Given the description of an element on the screen output the (x, y) to click on. 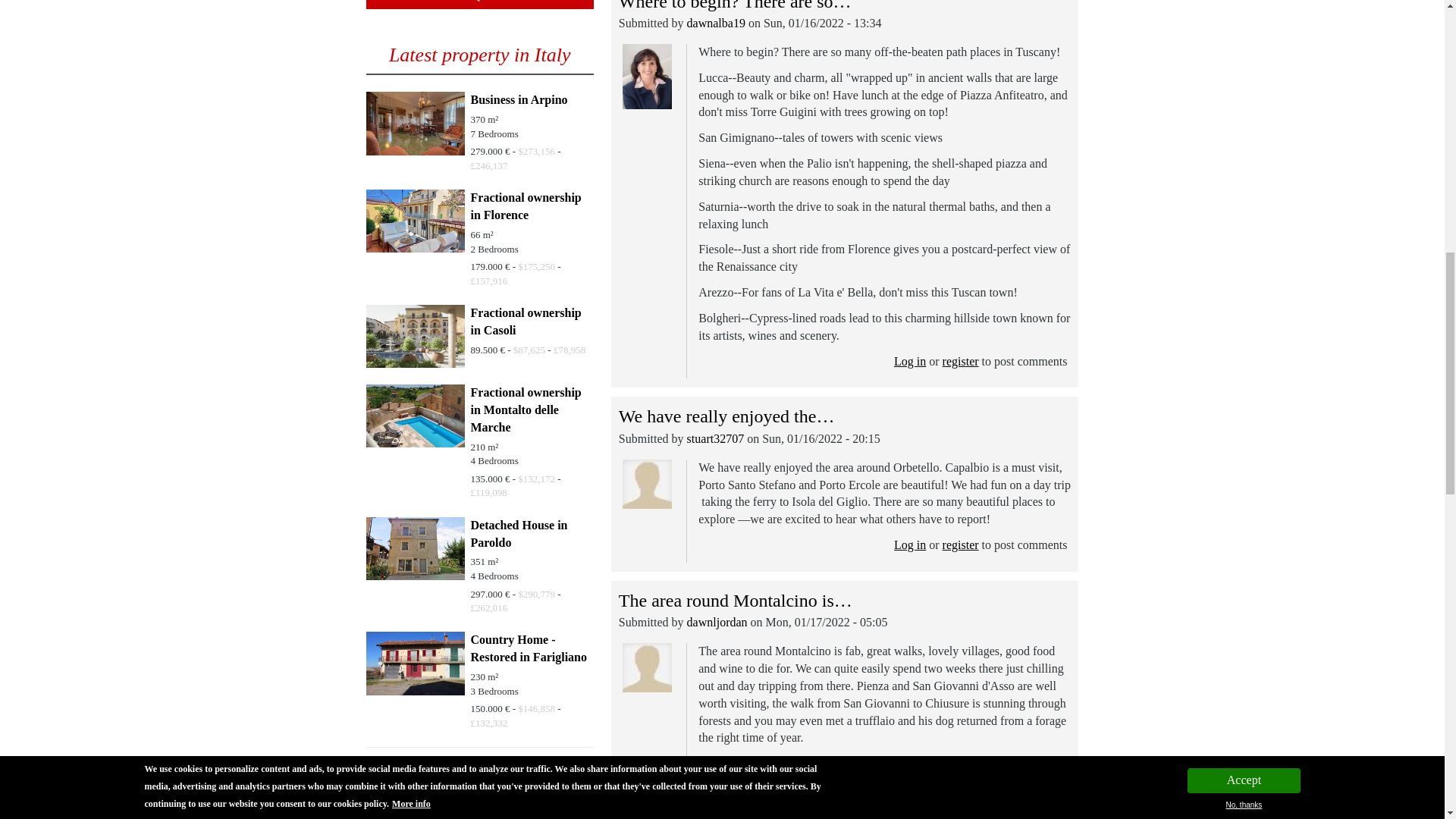
AC99-149-1404 1 (414, 122)
View user profile. (716, 22)
View user profile. (717, 621)
View user profile. (715, 438)
